Given the description of an element on the screen output the (x, y) to click on. 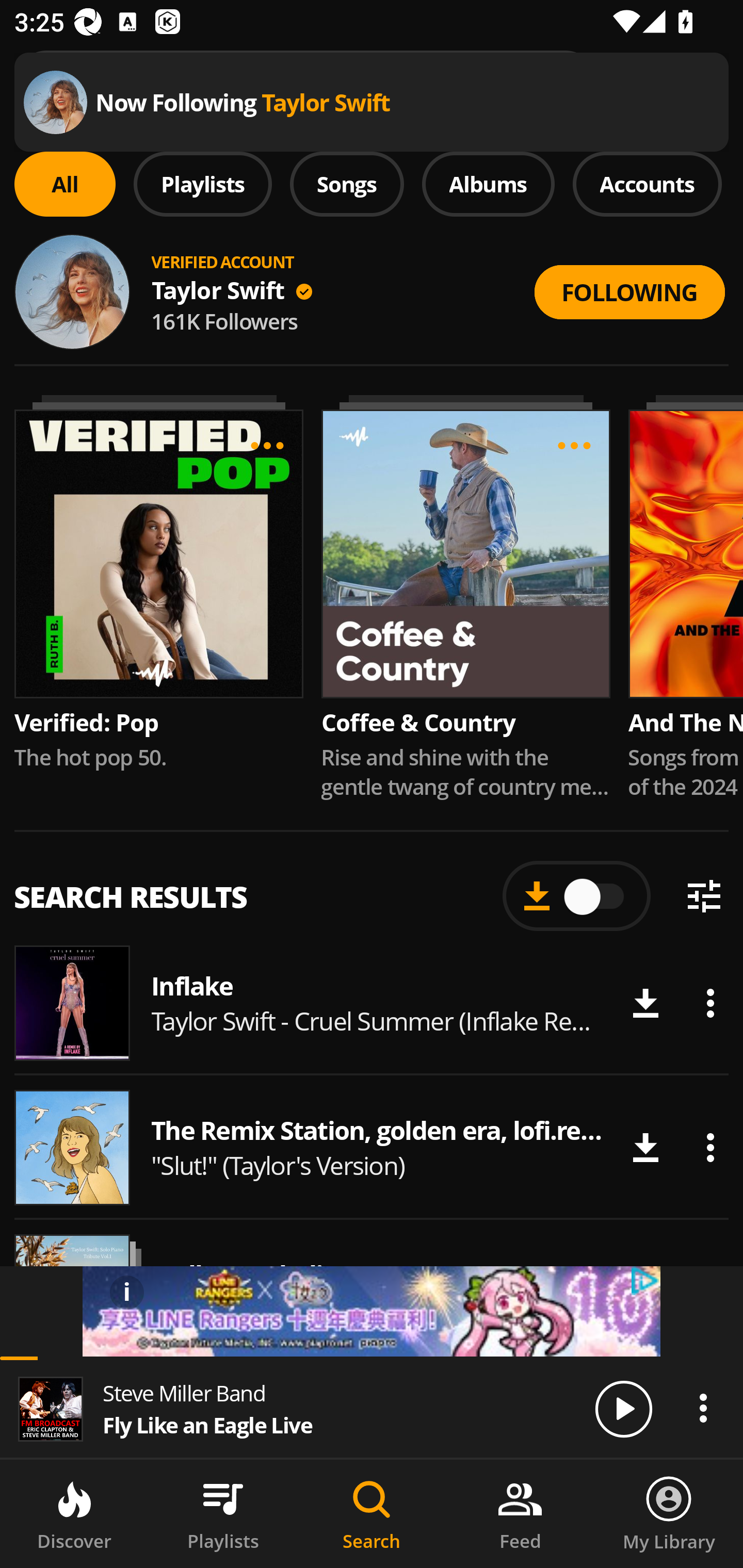
Toast image Now Following Taylor Swift (371, 102)
Toast image (54, 102)
All (64, 184)
Playlists (202, 184)
Songs (346, 184)
Albums (488, 184)
Accounts (647, 184)
FOLLOWING Follow/Unfollow (629, 291)
Song artwork Verified: Pop The hot pop 50. (158, 583)
Download (644, 1003)
Actions (710, 1003)
Download (644, 1147)
Actions (710, 1147)
Actions (703, 1407)
Play/Pause (623, 1408)
Discover (74, 1513)
Playlists (222, 1513)
Search (371, 1513)
Feed (519, 1513)
My Library (668, 1513)
